Given the description of an element on the screen output the (x, y) to click on. 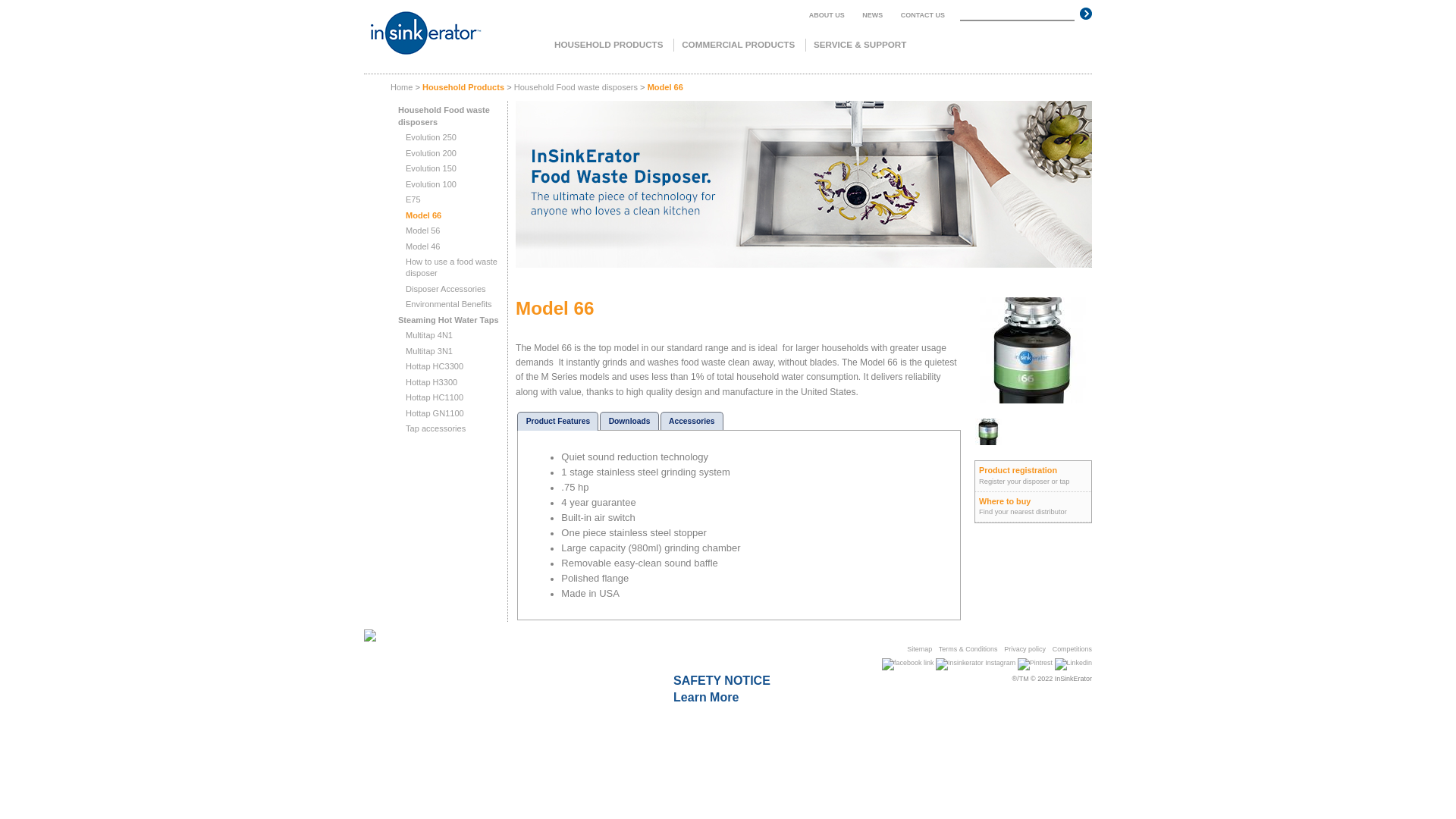
ABOUT US Element type: text (826, 14)
Downloads Element type: text (628, 421)
Hottap H3300 Element type: text (431, 381)
Competitions Element type: text (1072, 648)
Enter the terms you wish to search for. Element type: hover (1017, 14)
SAFETY NOTICE
Learn More Element type: text (721, 688)
Hottap HC3300 Element type: text (434, 365)
Household Food waste disposers Element type: text (575, 86)
CONTACT US Element type: text (922, 14)
Hottap GN1100 Element type: text (434, 412)
Model 56 Element type: text (422, 230)
Tap accessories Element type: text (435, 428)
Product registration
Register your disposer or tap Element type: text (1033, 476)
Steaming Hot Water Taps Element type: text (448, 319)
NEWS Element type: text (872, 14)
Model 46 Element type: text (422, 246)
Multitap 3N1 Element type: text (428, 350)
Household Food waste disposers Element type: text (443, 115)
Product Features Element type: text (557, 421)
Privacy policy Element type: text (1024, 648)
Disposer Accessories Element type: text (445, 288)
Evolution 100 Element type: text (430, 183)
Sitemap Element type: text (918, 648)
Evolution 150 Element type: text (430, 167)
Terms & Conditions Element type: text (967, 648)
Evolution 250 Element type: text (430, 136)
E75 Element type: text (412, 198)
Environmental Benefits Element type: text (448, 303)
Model 66 Element type: text (423, 214)
Hottap HC1100 Element type: text (434, 396)
Evolution 200 Element type: text (430, 152)
How to use a food waste disposer Element type: text (451, 267)
Home Element type: text (401, 86)
Where to buy
Find your nearest distributor Element type: text (1033, 507)
Accessories Element type: text (691, 421)
Multitap 4N1 Element type: text (428, 334)
